Given the description of an element on the screen output the (x, y) to click on. 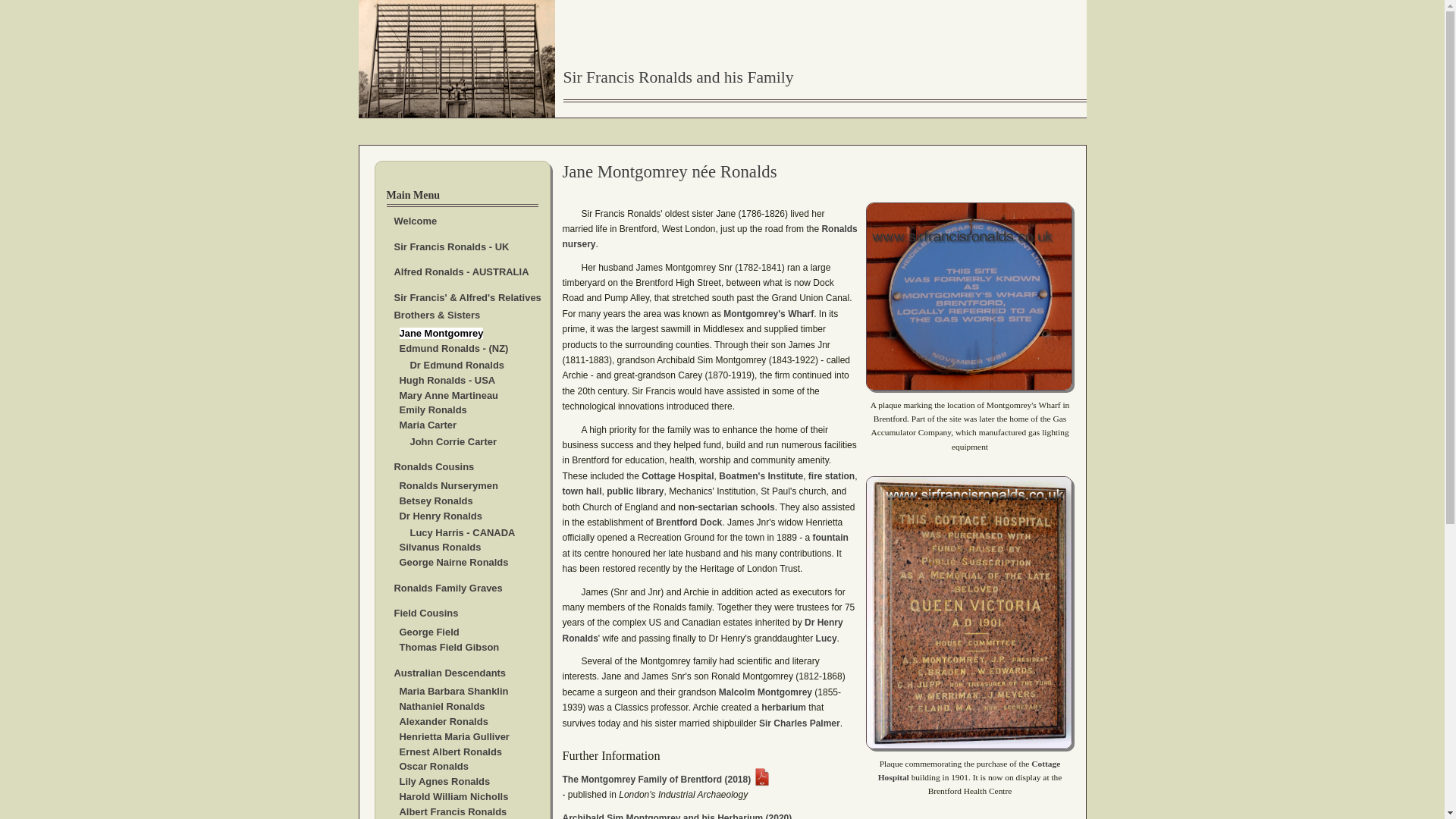
Albert Francis Ronalds (452, 811)
Alfred Ronalds - AUSTRALIA (461, 271)
Dr Henry Ronalds (439, 515)
Dr Edmund Ronalds (456, 365)
Harold William Nicholls (453, 796)
Ernest Albert Ronalds (450, 751)
Ronalds Cousins (434, 466)
Henrietta Maria Gulliver (453, 736)
Alexander Ronalds (442, 721)
Lily Agnes Ronalds (443, 781)
Ronalds Nurserymen (447, 485)
Thomas Field Gibson (448, 646)
Welcome (416, 220)
Maria Barbara Shanklin (453, 690)
John Corrie Carter (452, 441)
